Given the description of an element on the screen output the (x, y) to click on. 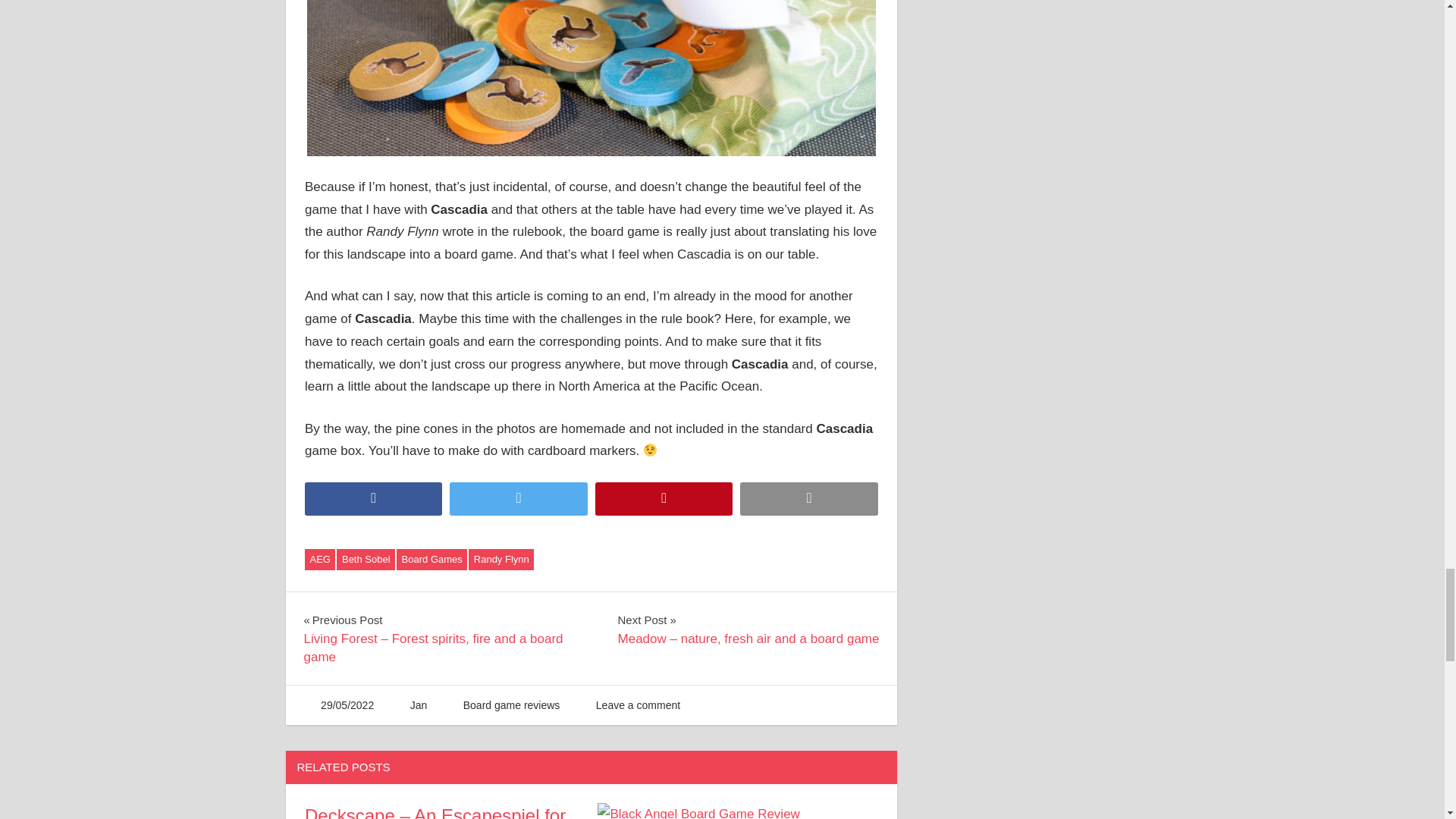
Email (808, 499)
View all posts by Jan (419, 705)
Facebook (373, 499)
AEG (319, 559)
Board game reviews (511, 705)
Leave a comment (637, 705)
Board Games (431, 559)
Jan (419, 705)
Randy Flynn (501, 559)
12:13 (347, 705)
Beth Sobel (365, 559)
Cascadia Board Game Animals (591, 78)
Twitter (517, 499)
Pinterest (663, 499)
